Given the description of an element on the screen output the (x, y) to click on. 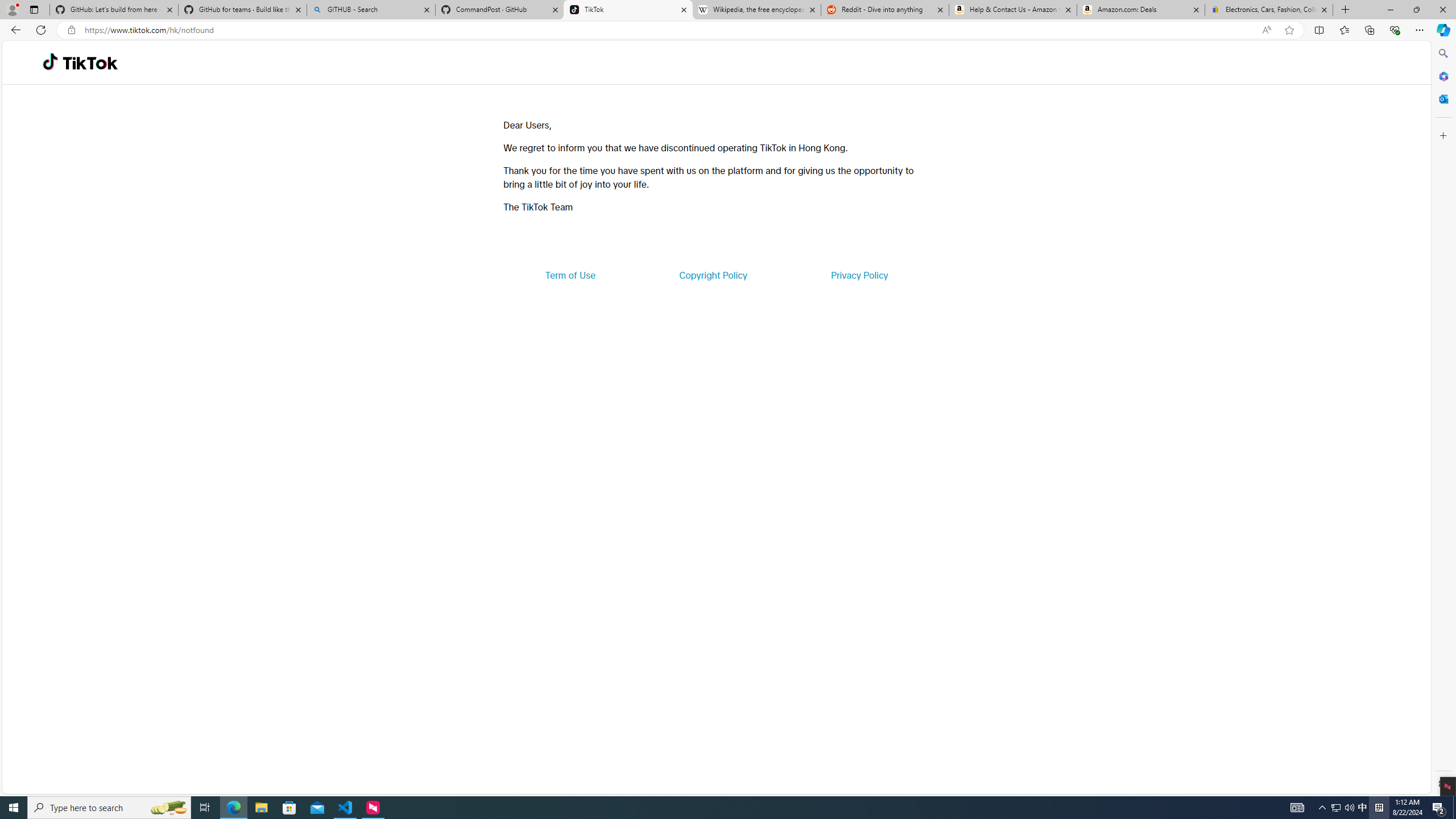
Term of Use (569, 274)
Help & Contact Us - Amazon Customer Service (1012, 9)
Wikipedia, the free encyclopedia (756, 9)
TikTok (628, 9)
